Given the description of an element on the screen output the (x, y) to click on. 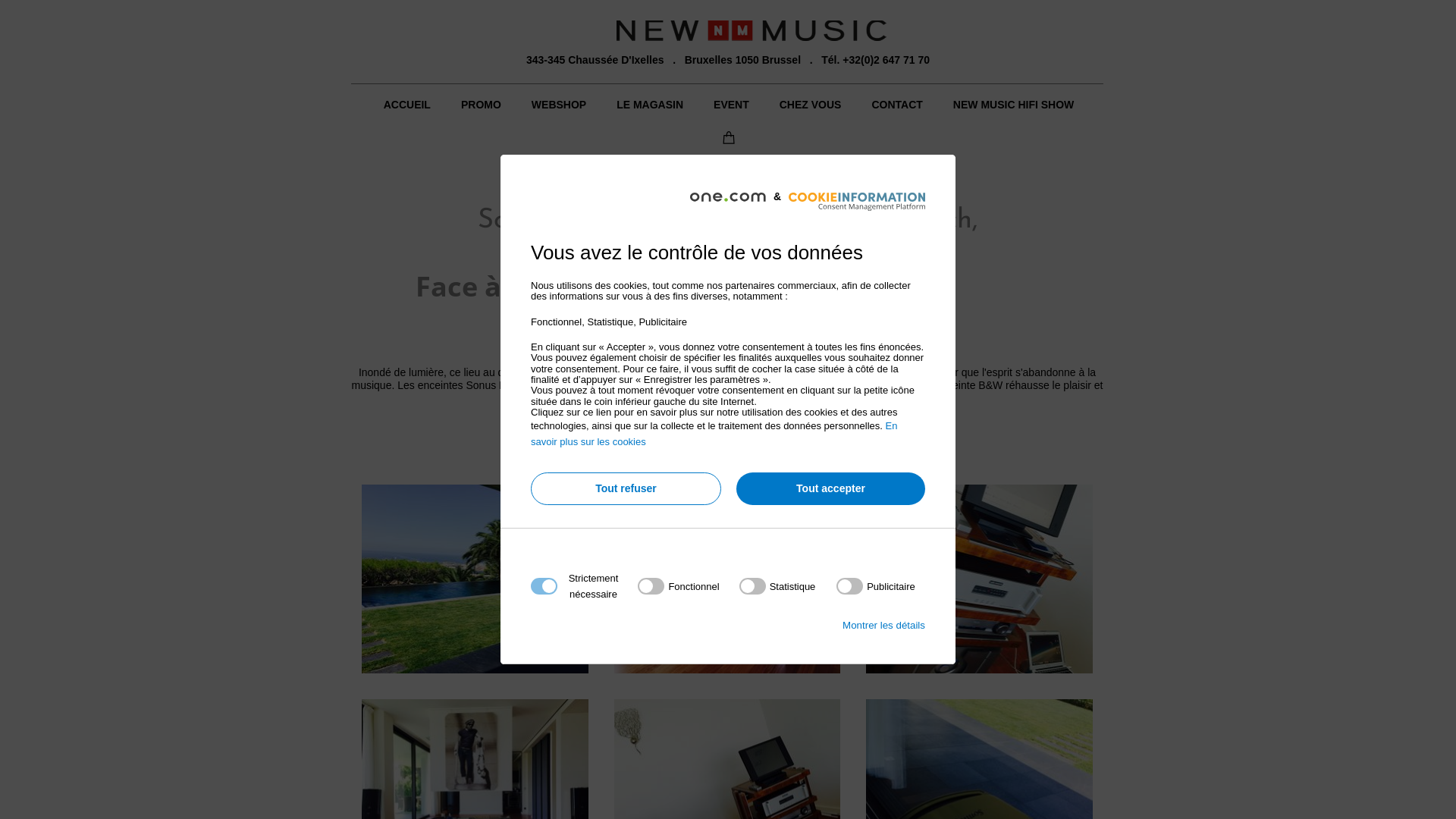
LE MAGASIN Element type: text (649, 105)
ACCUEIL Element type: text (406, 105)
NEW MUSIC HIFI SHOW Element type: text (1013, 105)
Tout refuser Element type: text (625, 488)
En savoir plus sur les cookies Element type: text (713, 433)
PROMO Element type: text (480, 105)
on Element type: text (777, 586)
Tout accepter Element type: text (830, 488)
EVENT Element type: text (731, 105)
on Element type: text (875, 586)
WEBSHOP Element type: text (558, 105)
CONTACT Element type: text (896, 105)
CHEZ VOUS Element type: text (810, 105)
Fonctionnel Element type: text (723, 769)
on Element type: text (677, 586)
